Given the description of an element on the screen output the (x, y) to click on. 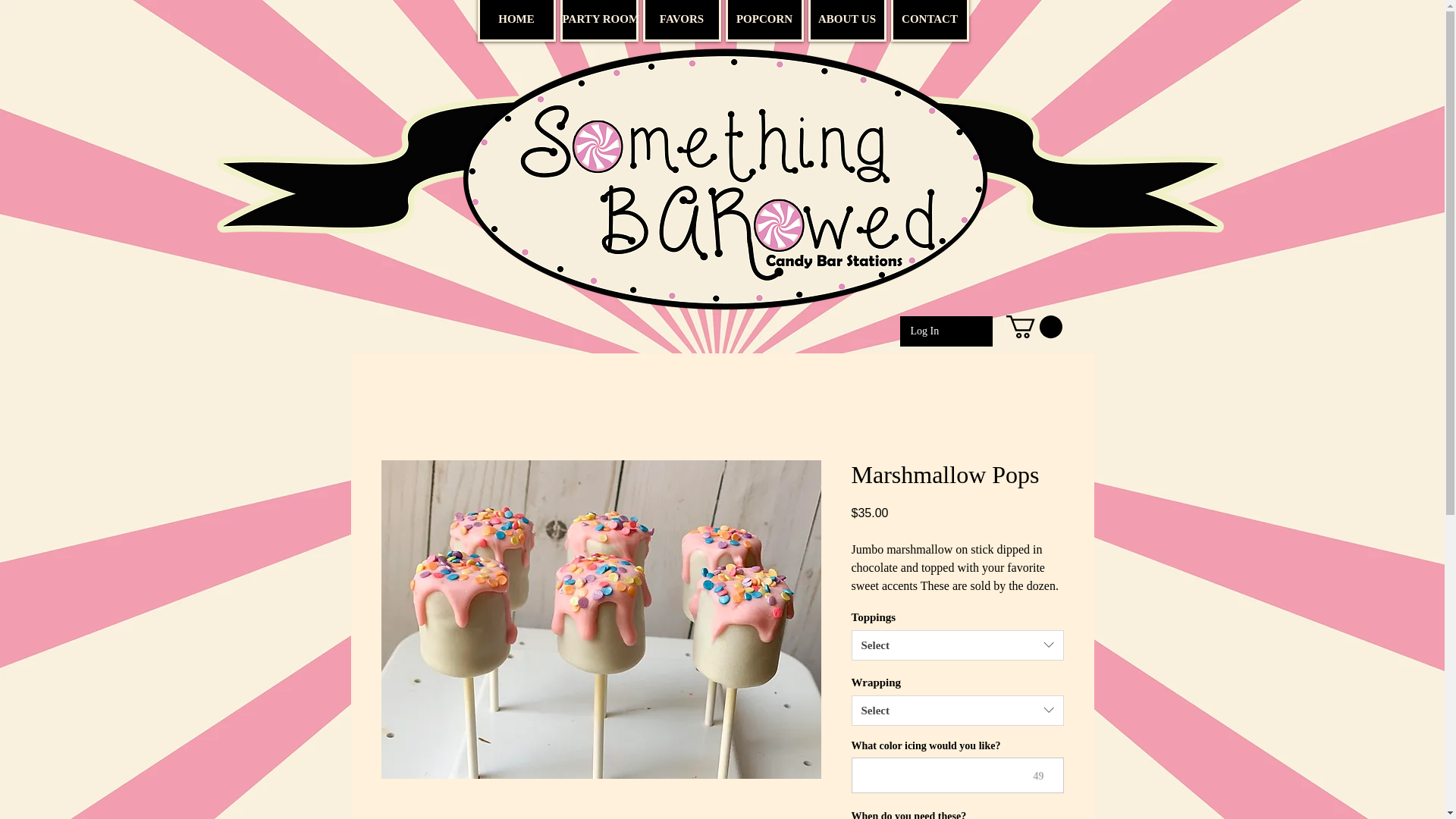
ABOUT US (847, 20)
Select (956, 644)
HOME (516, 20)
POPCORN (764, 20)
Log In (924, 331)
PARTY ROOM (598, 20)
CONTACT (928, 20)
Select (956, 710)
FAVORS (681, 20)
